Given the description of an element on the screen output the (x, y) to click on. 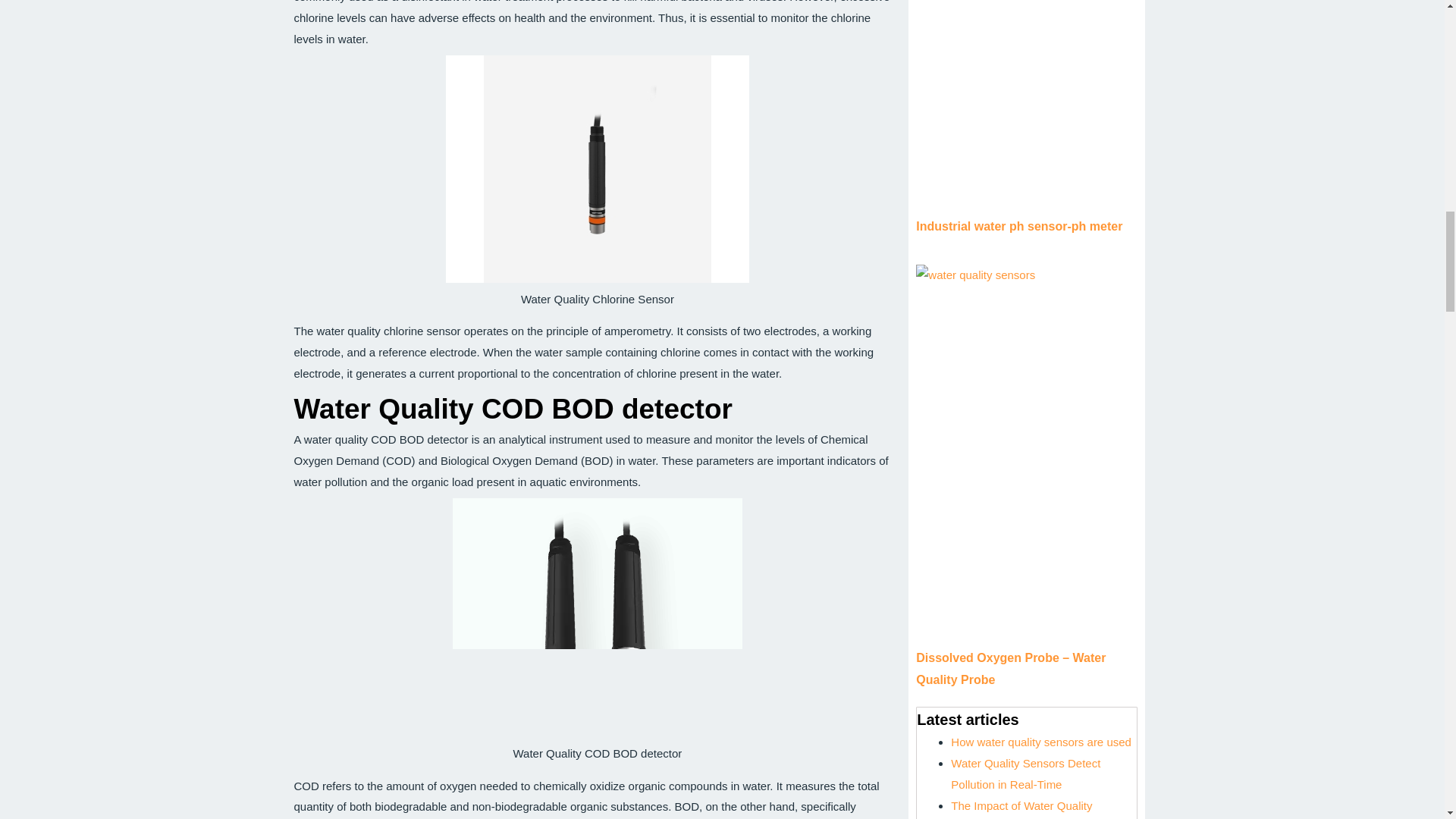
Water Quality Sensors Detect Pollution in Real-Time (1025, 773)
The best 6 kinds of water quality sensors 3 (597, 617)
How water quality sensors are used (1040, 741)
The best 6 kinds of water quality sensors 2 (597, 168)
Industrial water ph sensor-ph meter (1018, 226)
